Given the description of an element on the screen output the (x, y) to click on. 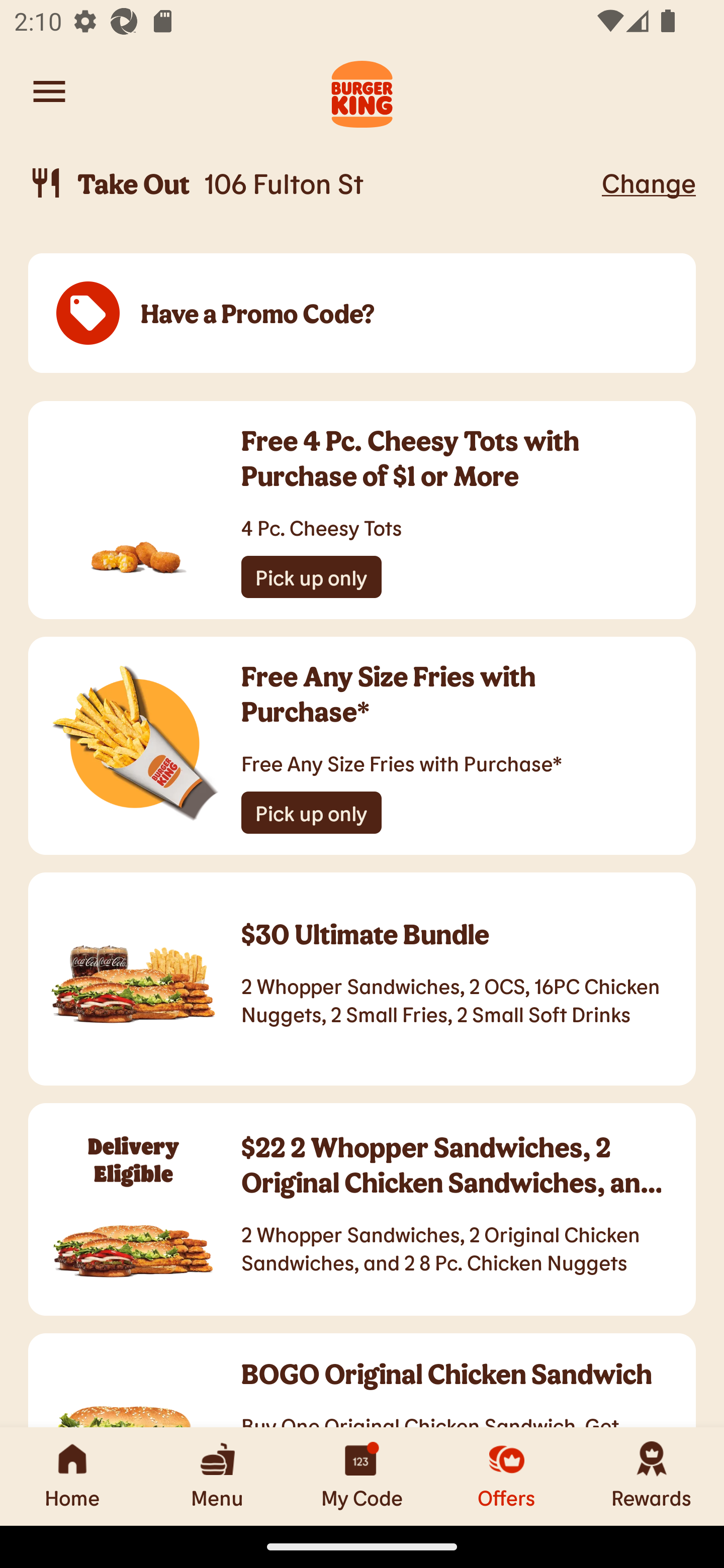
Burger King Logo. Navigate to Home (362, 91)
Navigate to account menu  (49, 91)
Take Out, 106 Fulton St  Take Out 106 Fulton St (311, 183)
Change (648, 182)
Have a Promo Code?  Have a Promo Code? (361, 313)
Home (72, 1475)
Menu (216, 1475)
My Code (361, 1475)
Offers (506, 1475)
Rewards (651, 1475)
